Given the description of an element on the screen output the (x, y) to click on. 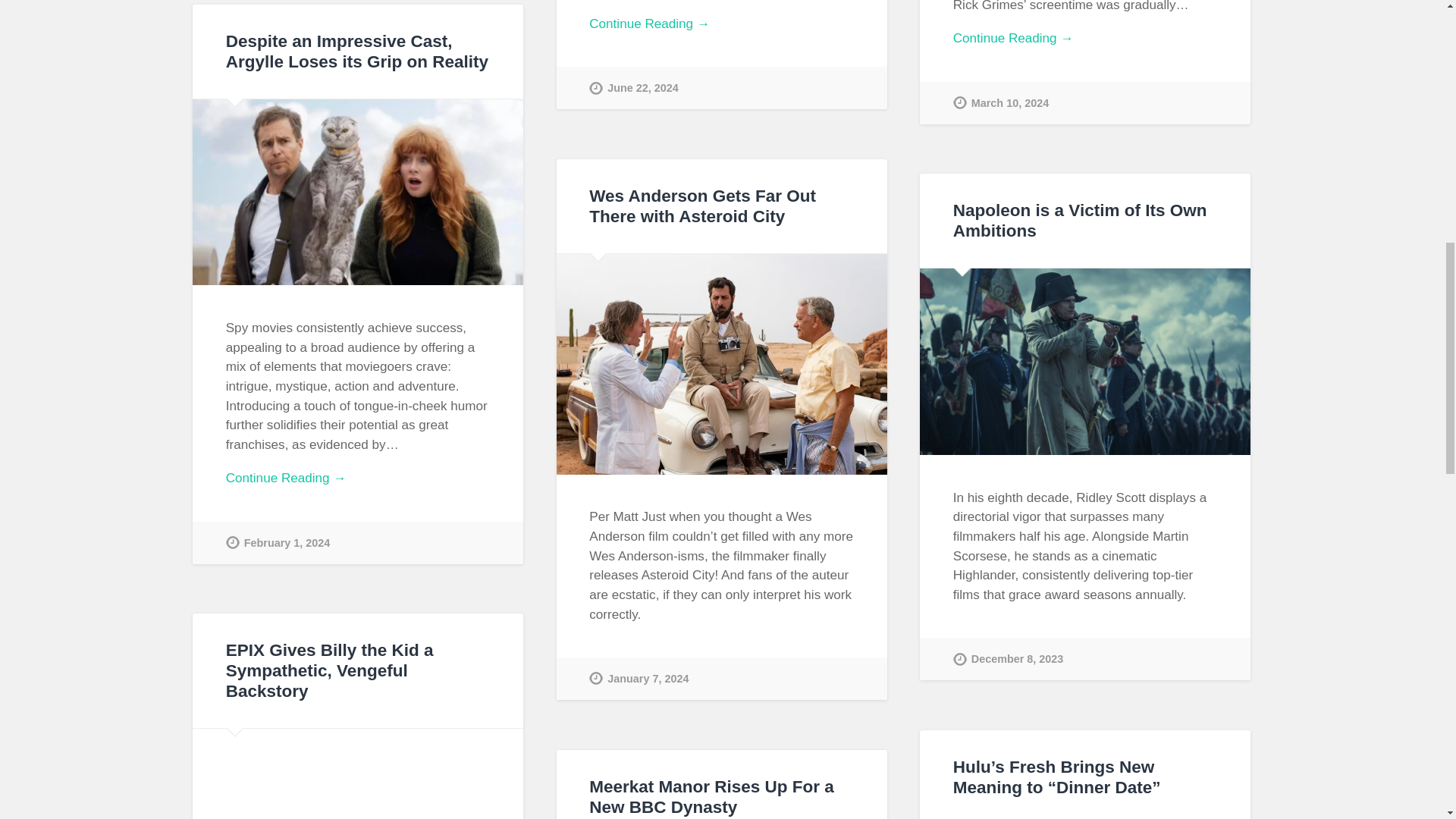
December 8, 2023 (1008, 659)
Meerkat Manor Rises Up For a New BBC Dynasty (711, 796)
EPIX Gives Billy the Kid a Sympathetic, Vengeful Backstory (329, 670)
June 22, 2024 (633, 87)
Napoleon is a Victim of Its Own Ambitions (1080, 220)
Wes Anderson Gets Far Out There with Asteroid City (702, 206)
March 10, 2024 (1000, 102)
January 7, 2024 (638, 678)
February 1, 2024 (277, 542)
